Given the description of an element on the screen output the (x, y) to click on. 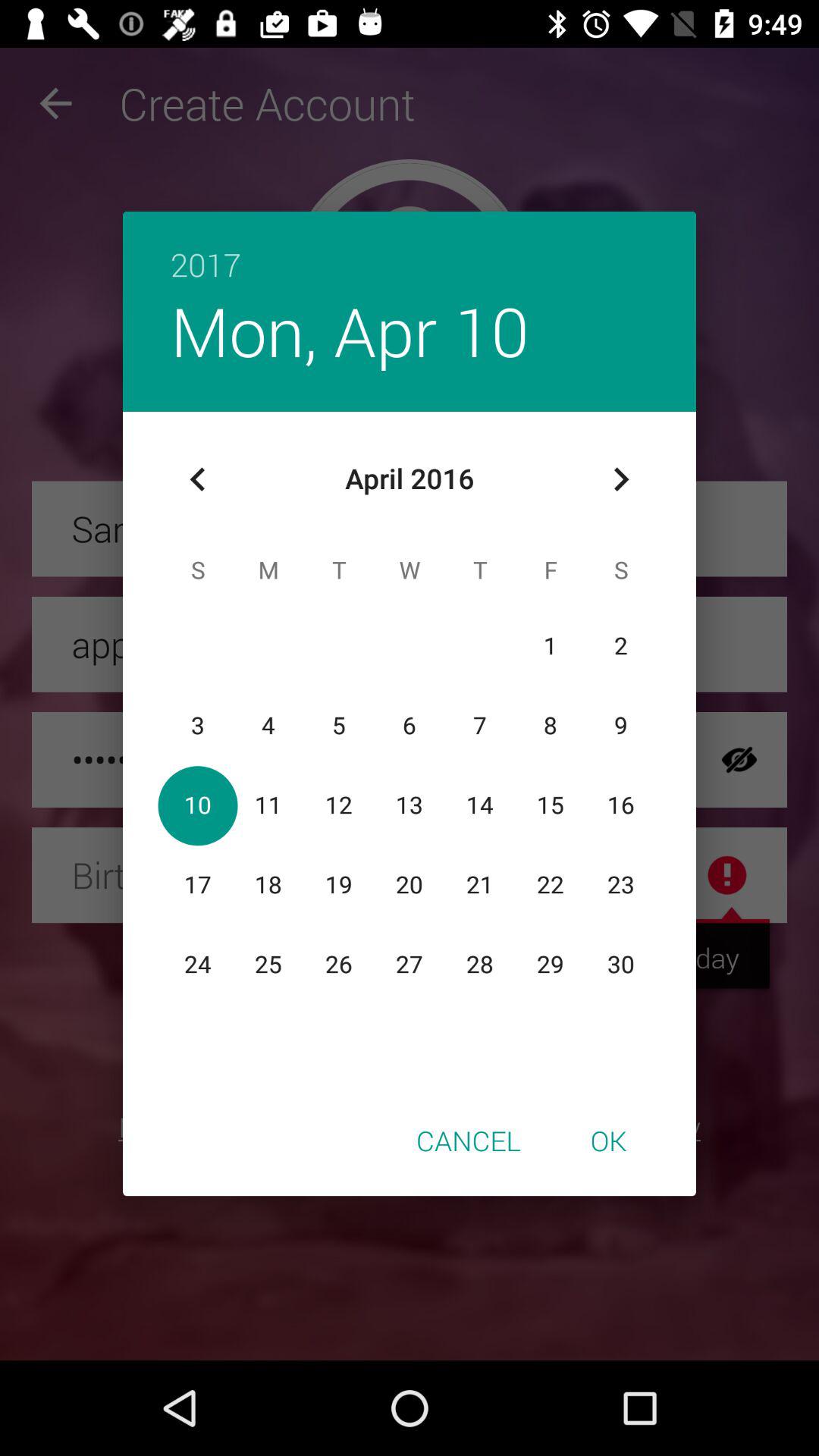
choose the icon to the left of the ok icon (468, 1140)
